Given the description of an element on the screen output the (x, y) to click on. 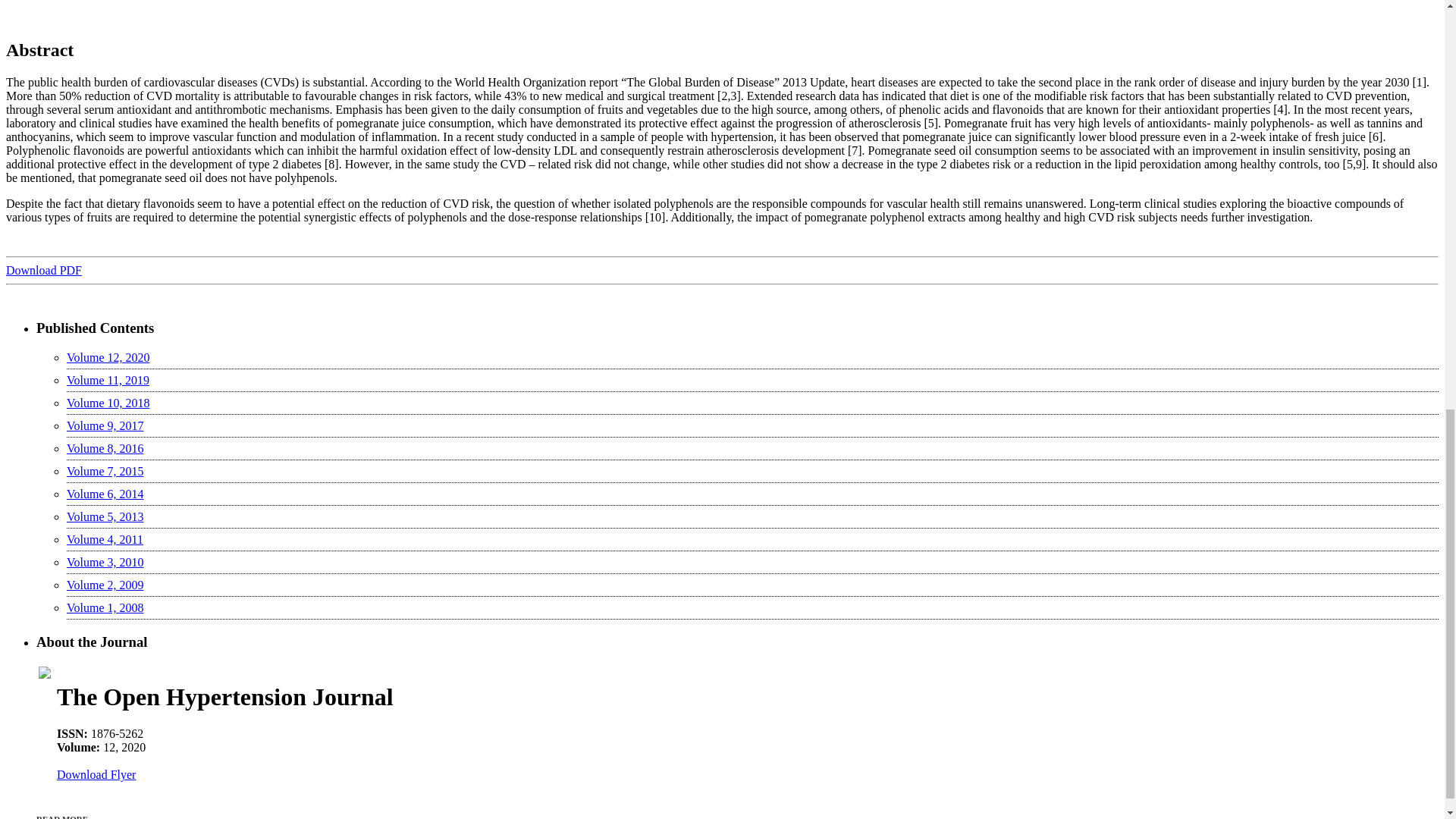
Volume 7, 2015 (104, 471)
Download PDF (43, 269)
Volume 1, 2008 (104, 607)
Volume 11, 2019 (107, 379)
Volume 3, 2010 (104, 562)
Volume 10, 2018 (107, 402)
Volume 12, 2020 (107, 357)
Volume 2, 2009 (104, 584)
Volume 8, 2016 (104, 448)
Download Flyer (95, 774)
Volume 5, 2013 (104, 516)
Volume 6, 2014 (104, 493)
Volume 9, 2017 (104, 425)
Volume 4, 2011 (104, 539)
